Given the description of an element on the screen output the (x, y) to click on. 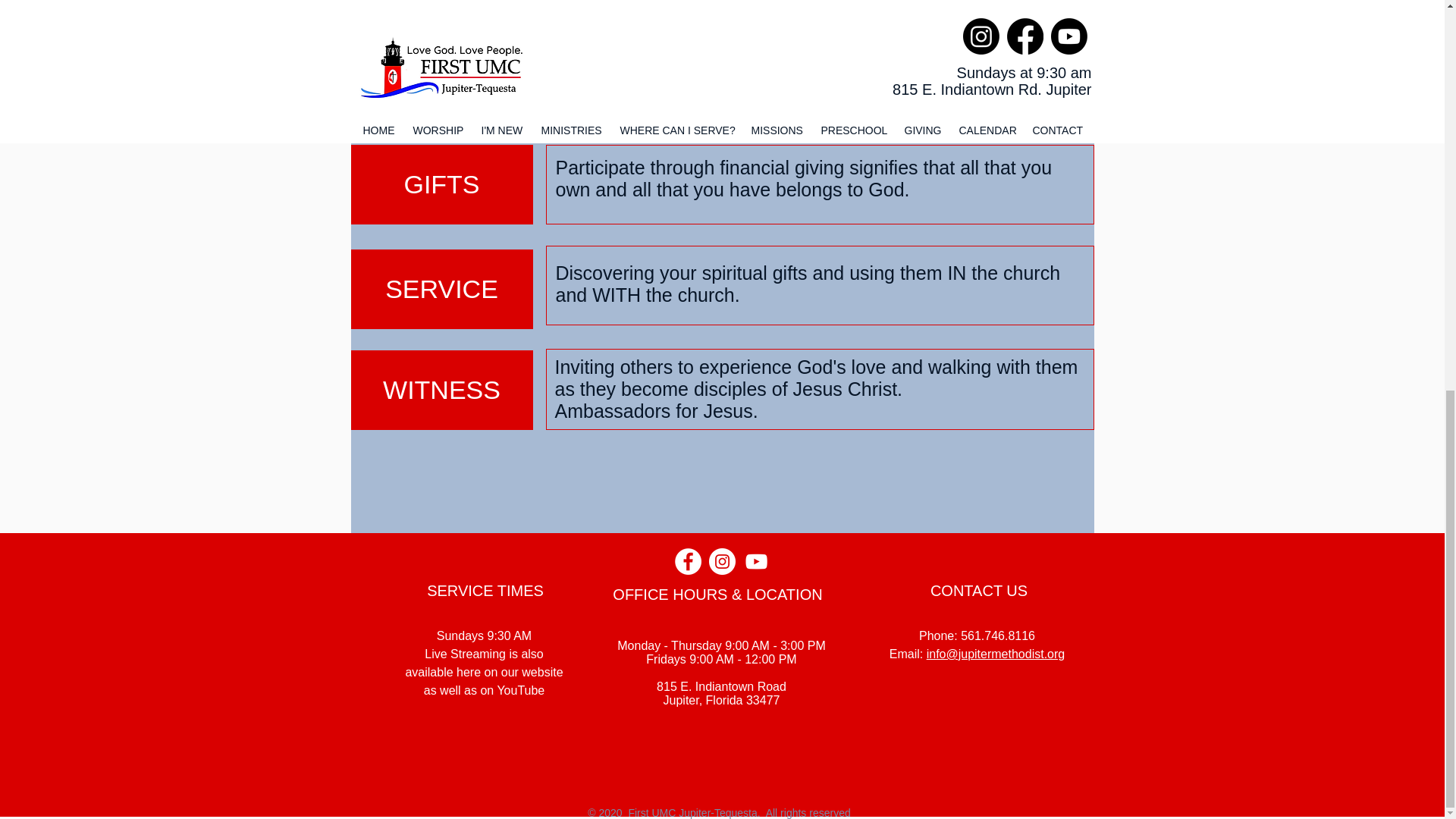
561.746.8116 (997, 635)
